Given the description of an element on the screen output the (x, y) to click on. 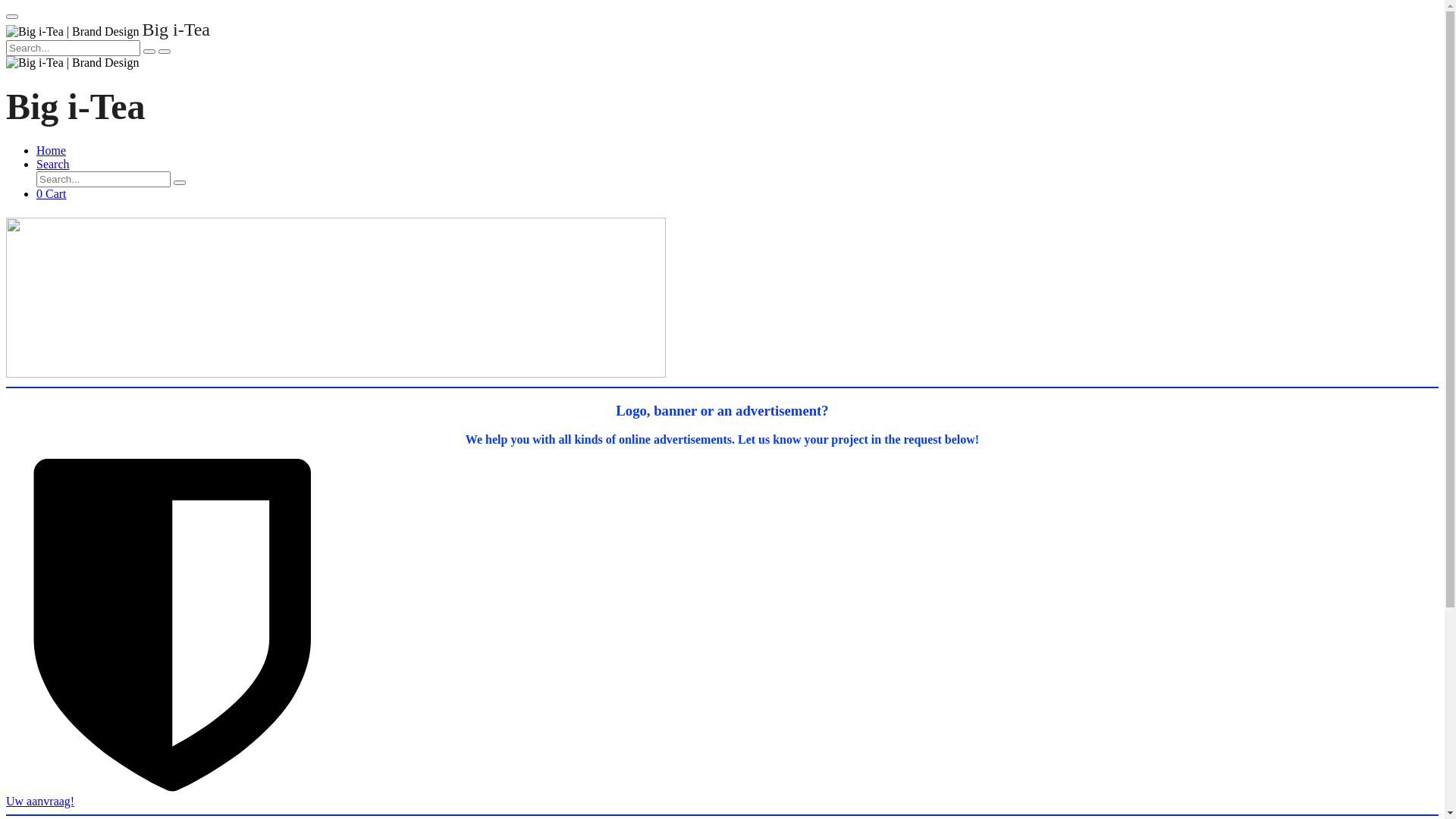
0 Cart Element type: text (51, 193)
Big i-Tea | Brand Design Element type: hover (72, 62)
Home Element type: text (50, 150)
Big i-Tea | Brand Design Element type: hover (72, 31)
Uw aanvraag! Element type: text (722, 794)
Search Element type: text (52, 163)
